Given the description of an element on the screen output the (x, y) to click on. 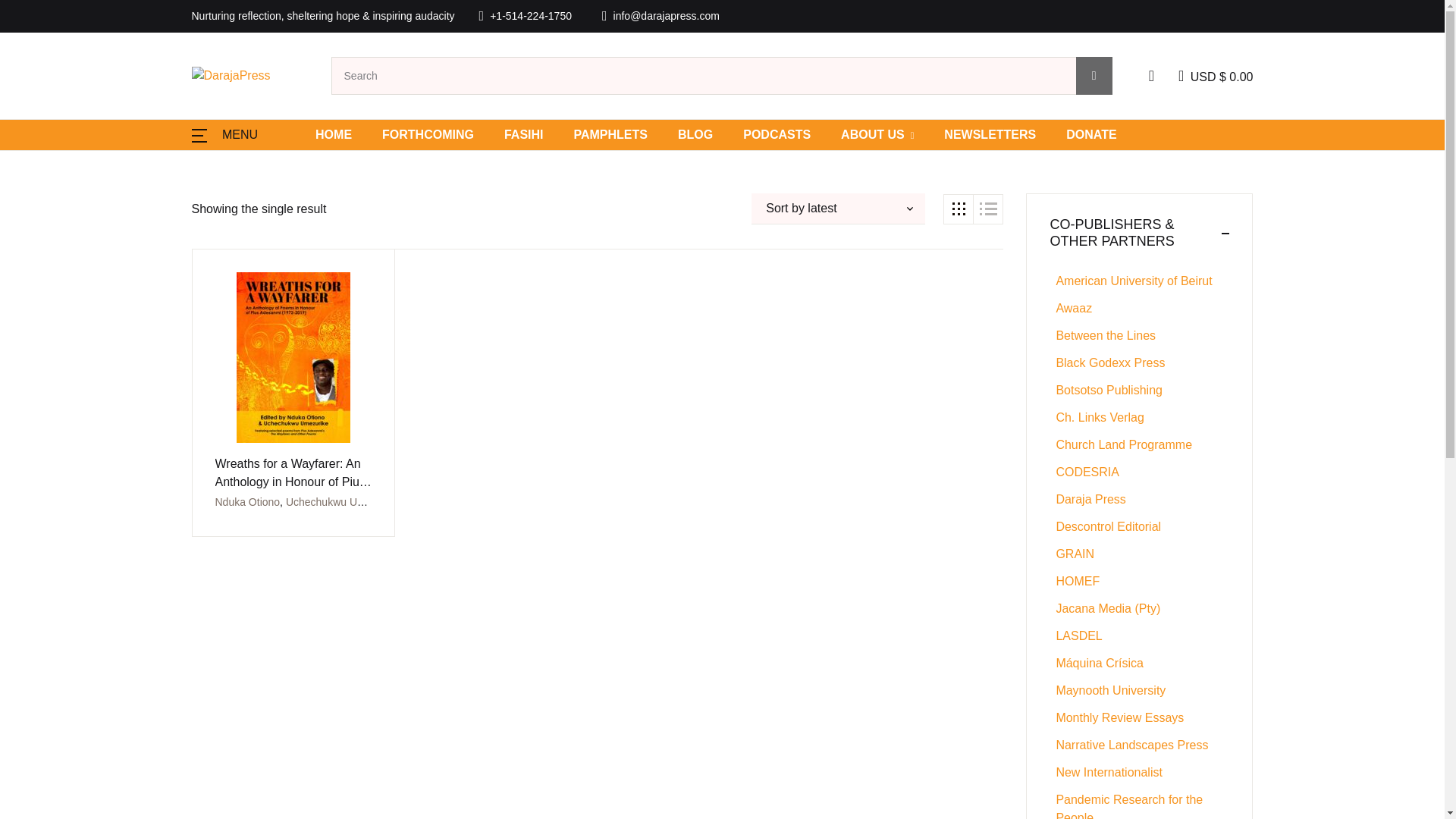
Sign In (1254, 310)
Fasihi (523, 134)
FORTHCOMING (427, 134)
Home (333, 134)
Blog (695, 134)
BLOG (695, 134)
PODCASTS (776, 134)
NEWSLETTERS (989, 134)
Donate (1090, 134)
DONATE (1090, 134)
Pamphlets (609, 134)
About Us (877, 134)
HOME (333, 134)
Forthcoming (427, 134)
FASIHI (523, 134)
